Given the description of an element on the screen output the (x, y) to click on. 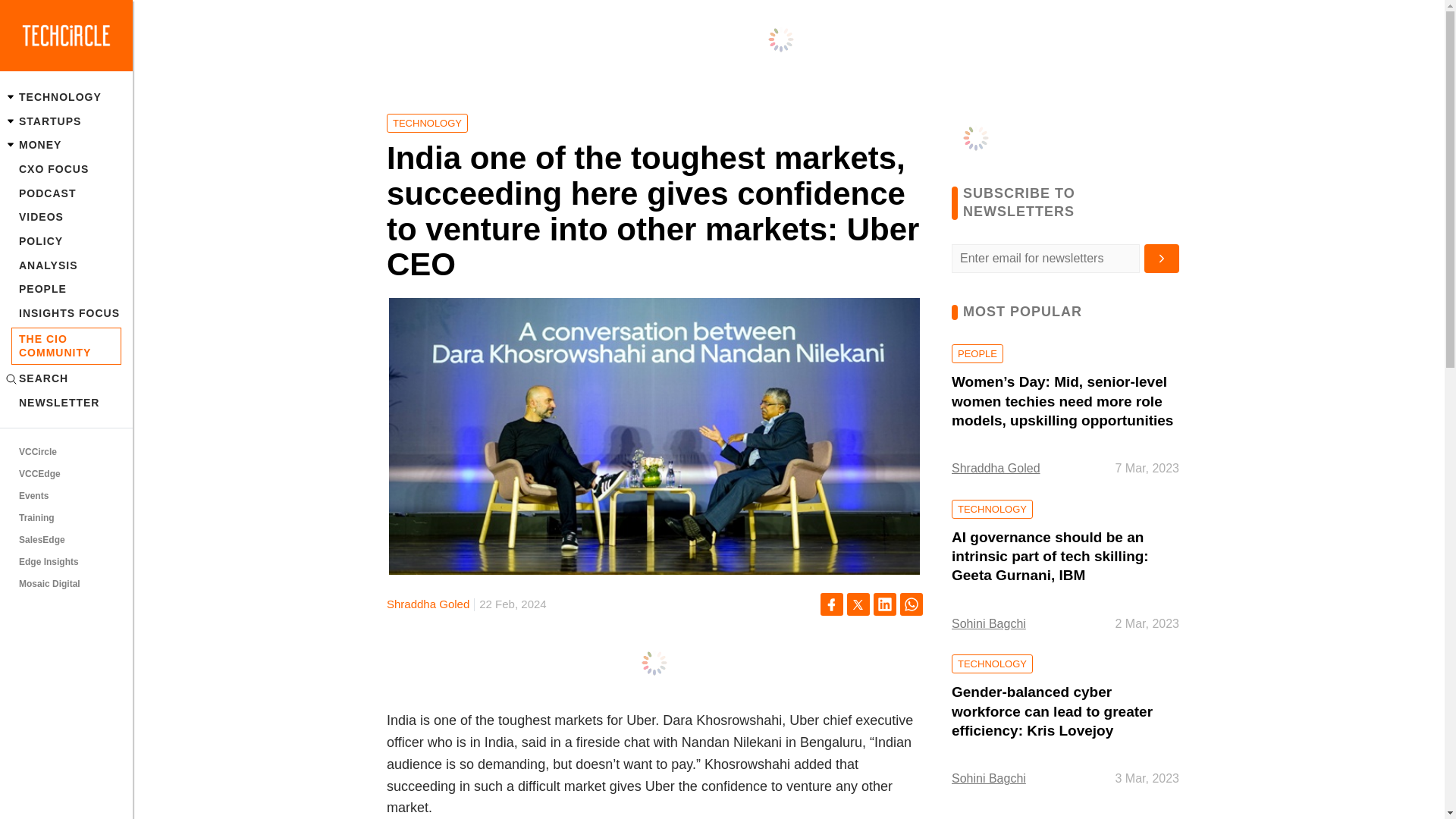
THE CIO COMMUNITY (65, 345)
Twitter (858, 603)
STARTUPS (66, 121)
Linkedin (884, 603)
Whatsapp (911, 603)
CXO FOCUS (66, 168)
VCCircle (66, 452)
Facebook (832, 603)
PODCAST (66, 193)
Events (66, 496)
